Given the description of an element on the screen output the (x, y) to click on. 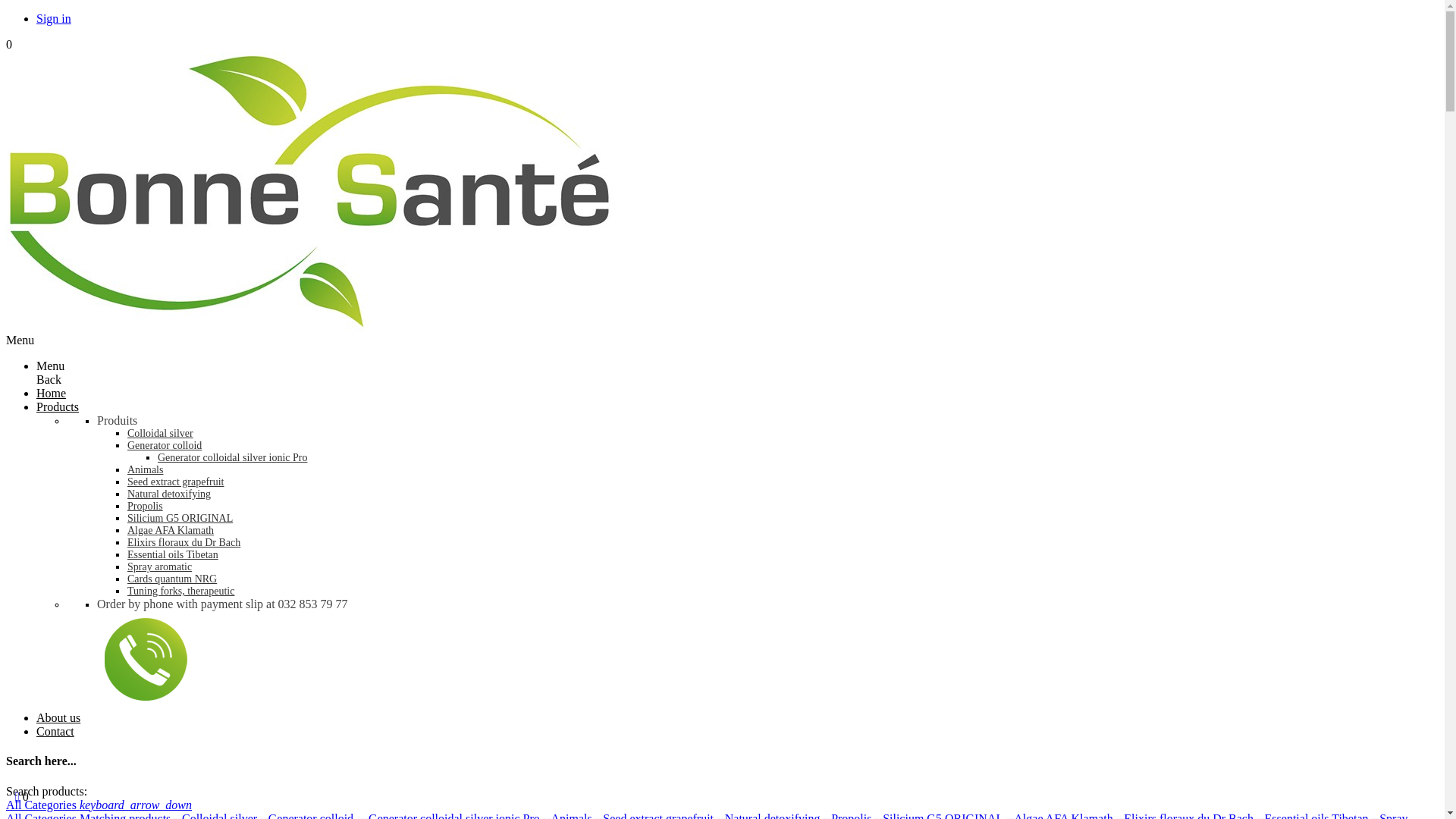
Contact Element type: text (55, 730)
Tuning forks, therapeutic Element type: text (180, 590)
Products Element type: text (57, 406)
Cards quantum NRG Element type: text (171, 578)
Home Element type: text (50, 392)
Natural detoxifying Element type: text (168, 493)
About us Element type: text (58, 717)
Algae AFA Klamath Element type: text (170, 530)
Sign in Element type: text (53, 18)
Silicium G5 ORIGINAL Element type: text (179, 518)
Generator colloid Element type: text (164, 445)
Elixirs floraux du Dr Bach Element type: text (183, 542)
Spray aromatic Element type: text (159, 566)
Animals Element type: text (145, 469)
Generator colloidal silver ionic Pro Element type: text (232, 457)
Essential oils Tibetan Element type: text (172, 554)
Propolis Element type: text (145, 505)
All Categories keyboard_arrow_down Element type: text (98, 804)
Seed extract grapefruit Element type: text (175, 481)
Colloidal silver Element type: text (160, 433)
